Given the description of an element on the screen output the (x, y) to click on. 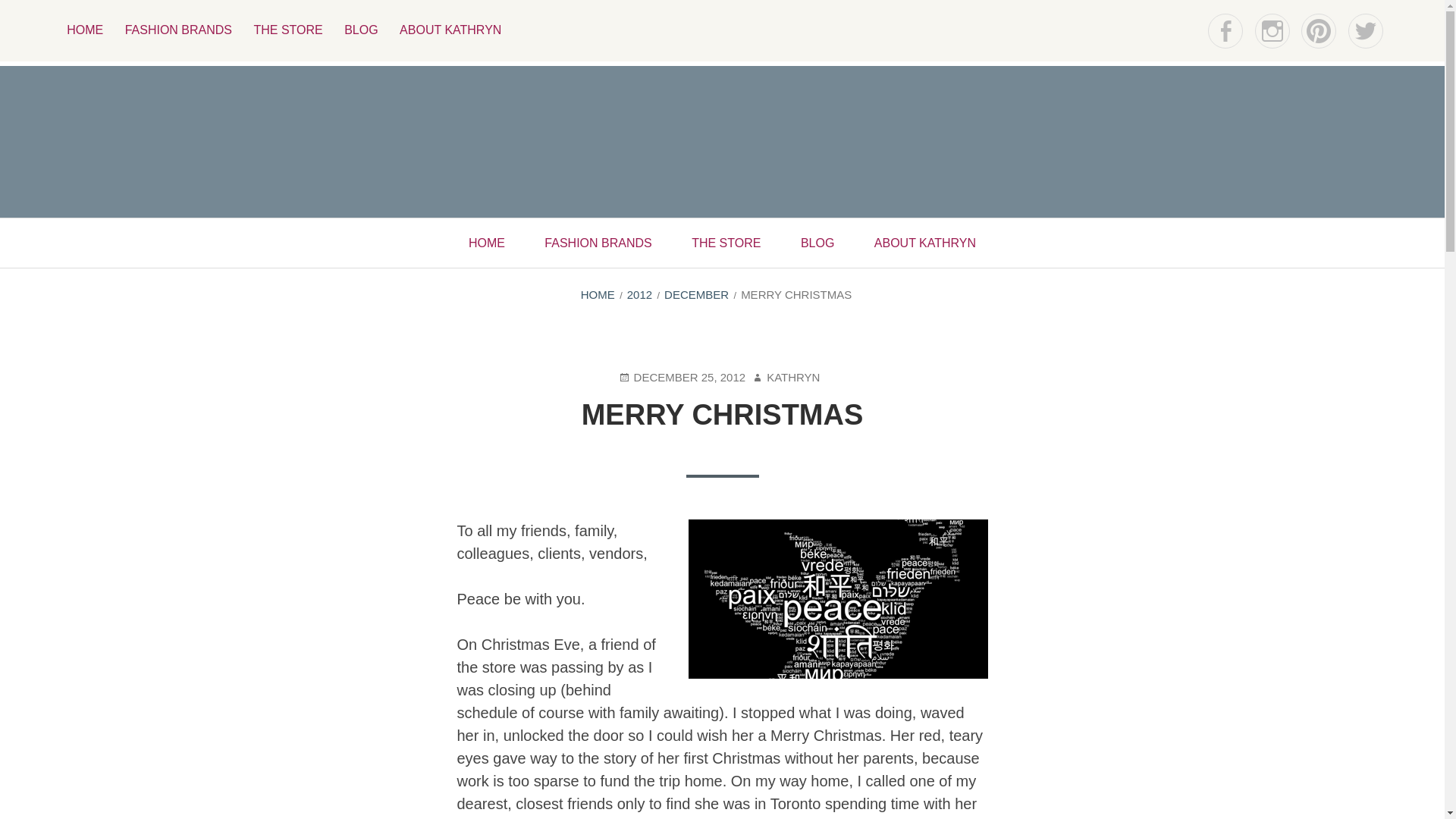
BLOG (360, 30)
BLOG (817, 242)
DECEMBER (696, 294)
Pinterest (1318, 30)
Instagram (1272, 30)
Twitter (1365, 30)
HOME (485, 242)
DECEMBER 25, 2012 (681, 377)
KATE FRENCH WEAR (380, 202)
HOME (85, 30)
ABOUT KATHRYN (450, 30)
HOME (597, 294)
Facebook (1225, 30)
THE STORE (725, 242)
FASHION BRANDS (178, 30)
